Given the description of an element on the screen output the (x, y) to click on. 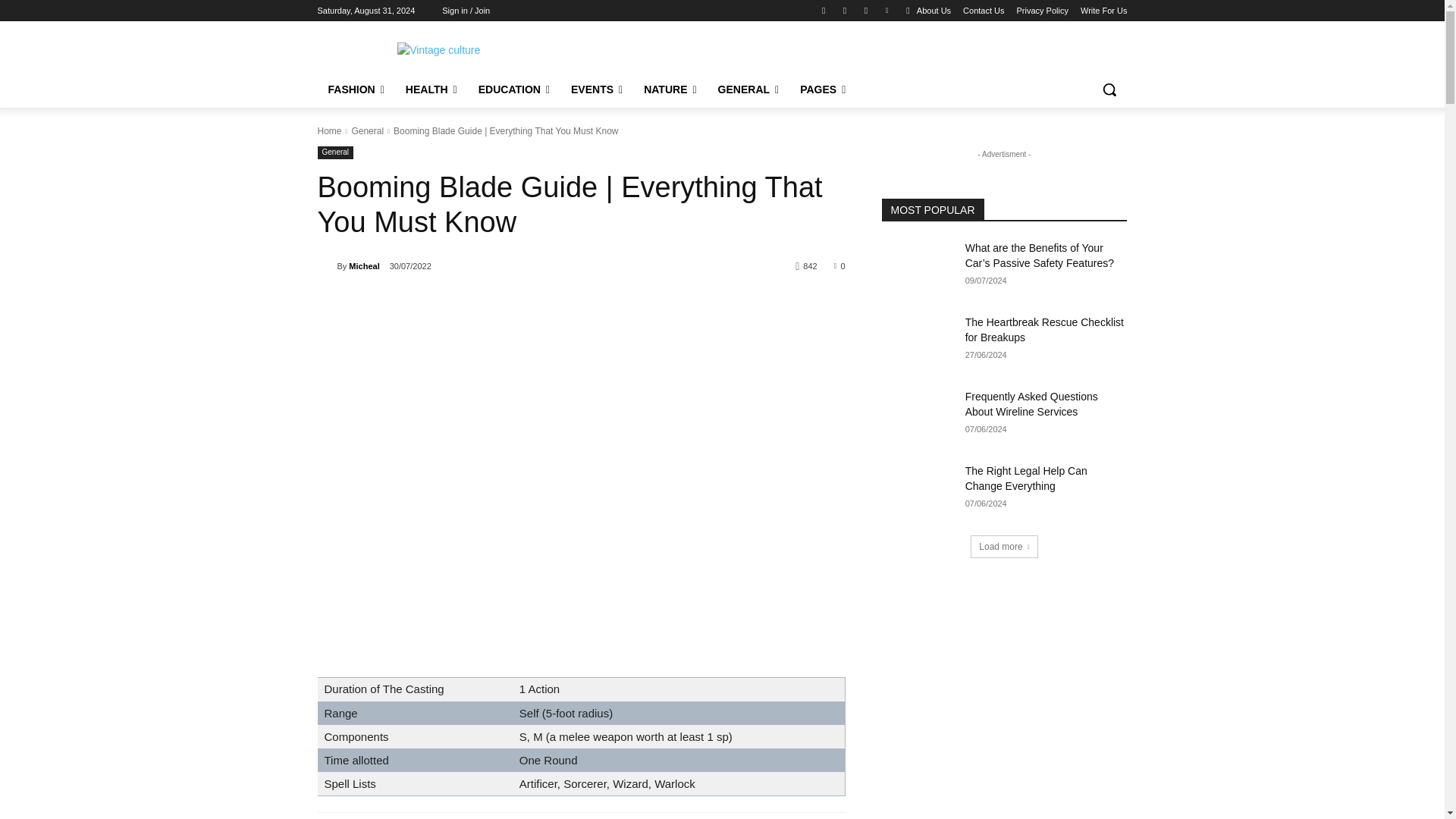
View all posts in General (367, 131)
Contact Us (983, 10)
About Us (933, 10)
Instagram (844, 9)
Youtube (908, 9)
Facebook (823, 9)
Vimeo (886, 9)
Vintage culture (438, 53)
Twitter (866, 9)
Vintage culture (438, 53)
